Given the description of an element on the screen output the (x, y) to click on. 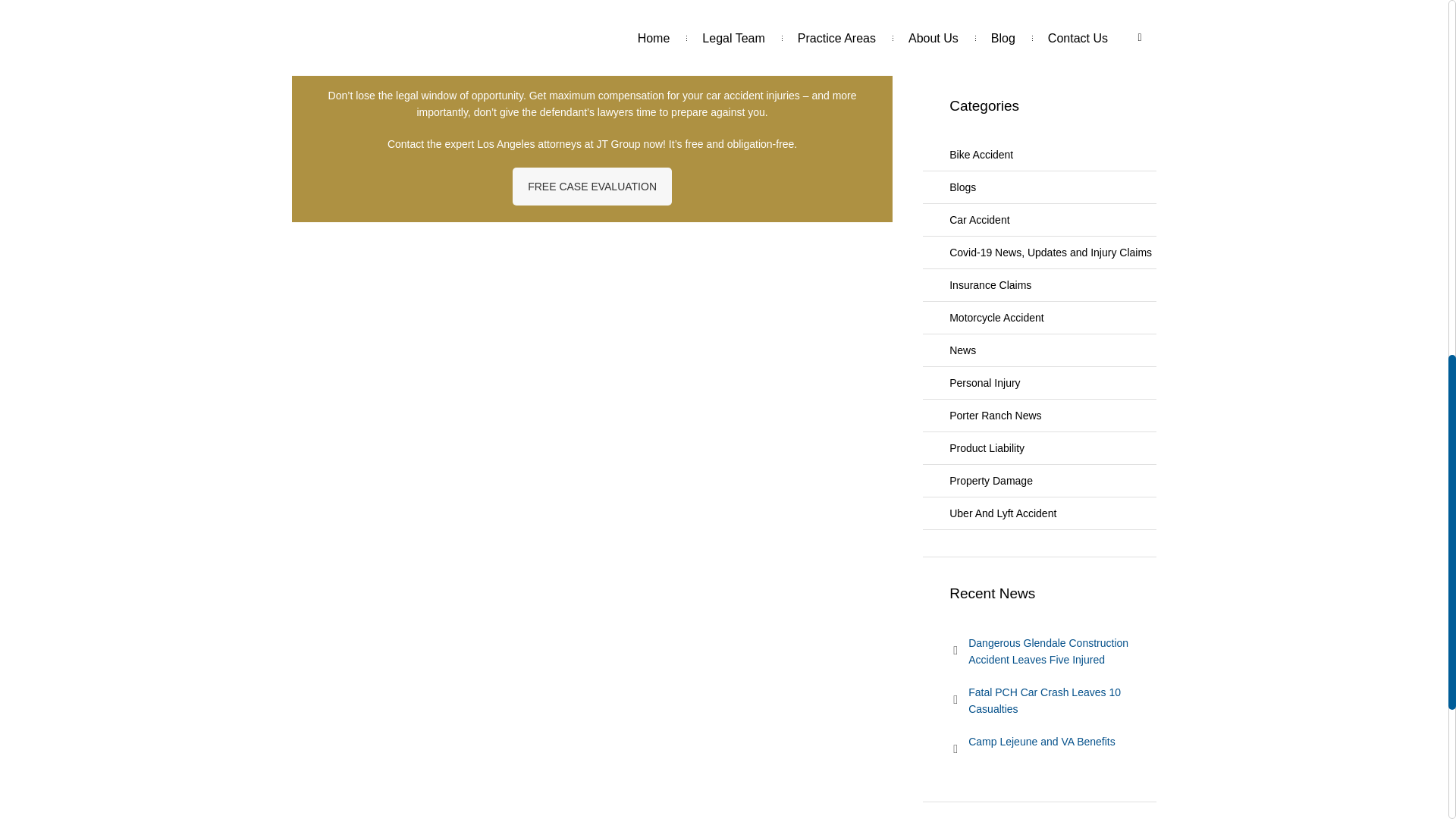
FREE CASE EVALUATION (591, 186)
